Given the description of an element on the screen output the (x, y) to click on. 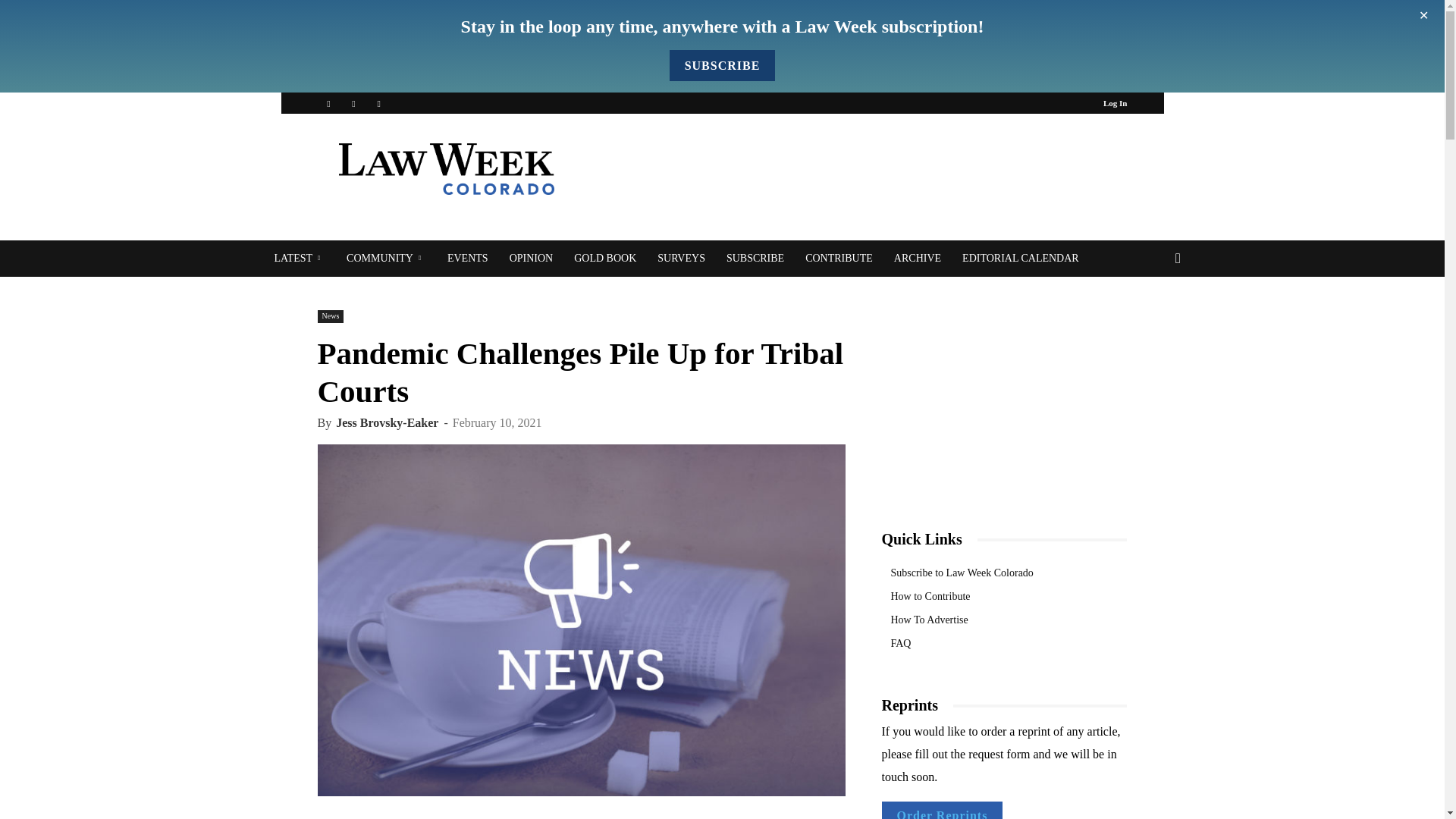
Facebook (328, 102)
3rd party ad content (850, 169)
Linkedin (353, 102)
LATEST (299, 258)
Twitter (379, 102)
Law Week Colorado (445, 168)
SUBSCRIBE (722, 65)
Log In (1114, 102)
